Given the description of an element on the screen output the (x, y) to click on. 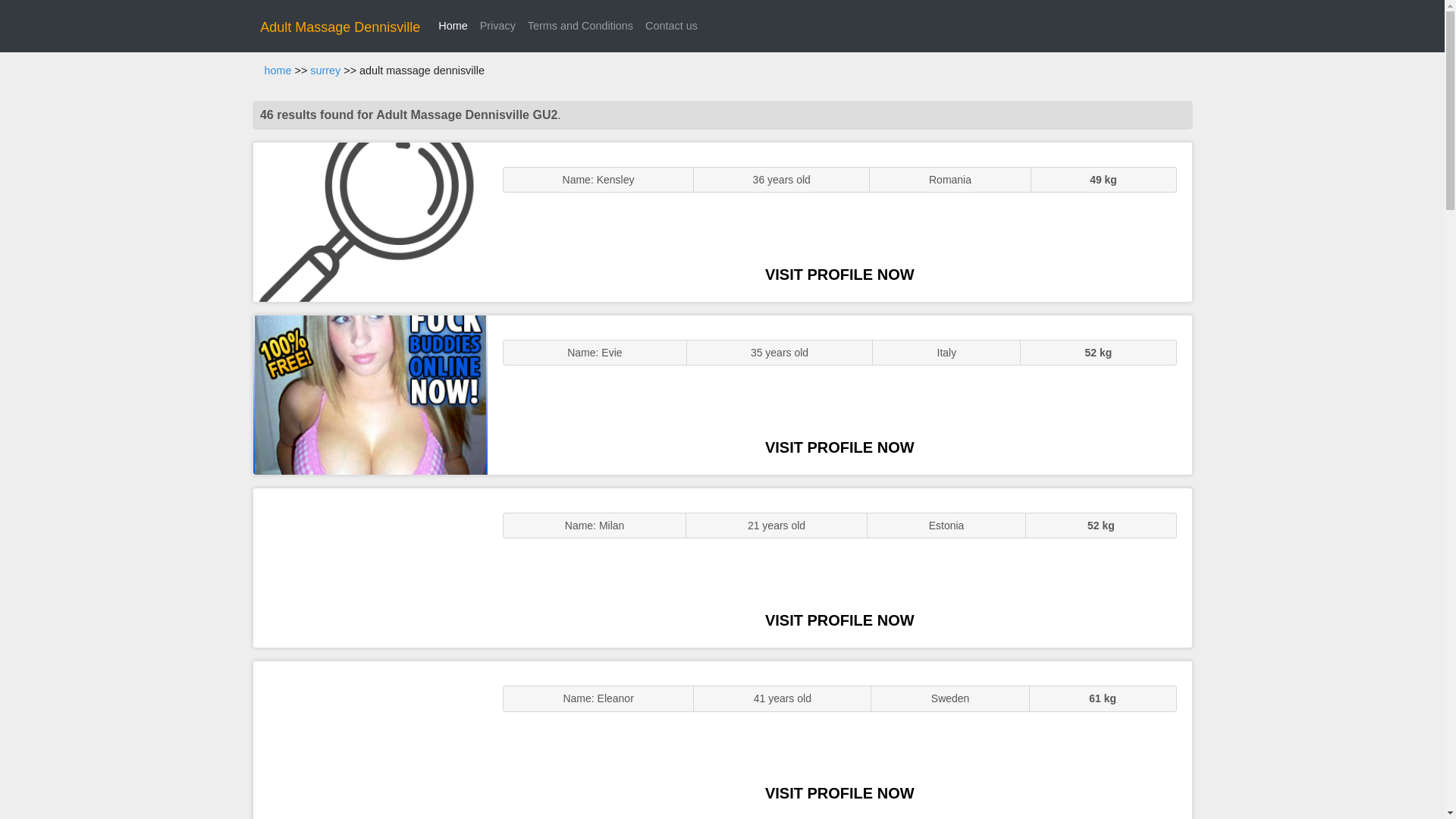
Adult Massage Dennisville (340, 27)
GFE (370, 395)
VISIT PROFILE NOW (839, 446)
home (277, 70)
Contact us (671, 25)
Privacy (497, 25)
VISIT PROFILE NOW (839, 274)
 ENGLISH STUNNER (370, 222)
surrey (325, 70)
Sexy (370, 567)
